Given the description of an element on the screen output the (x, y) to click on. 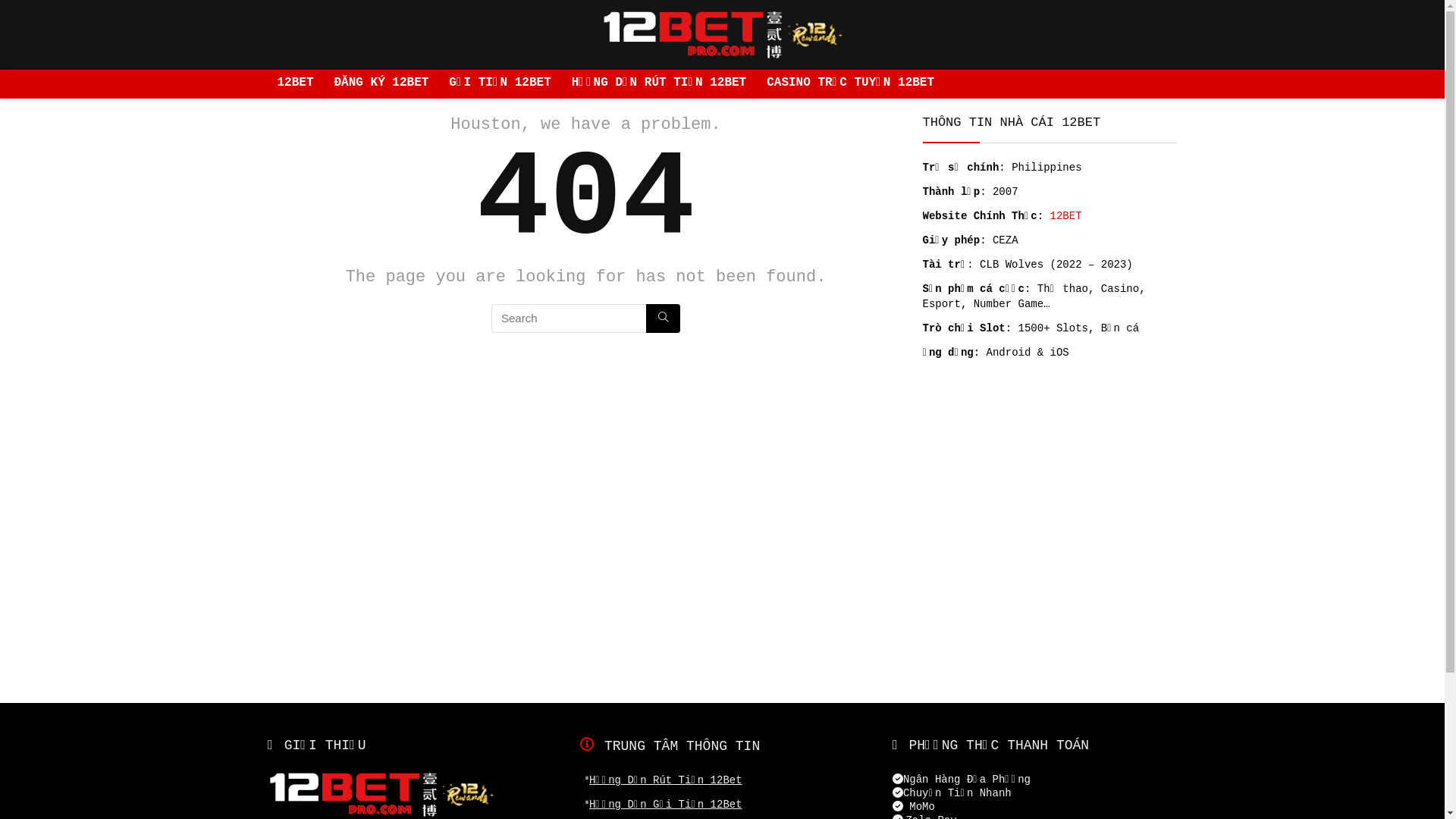
12BET Element type: text (1066, 216)
12BET Element type: text (294, 83)
